Given the description of an element on the screen output the (x, y) to click on. 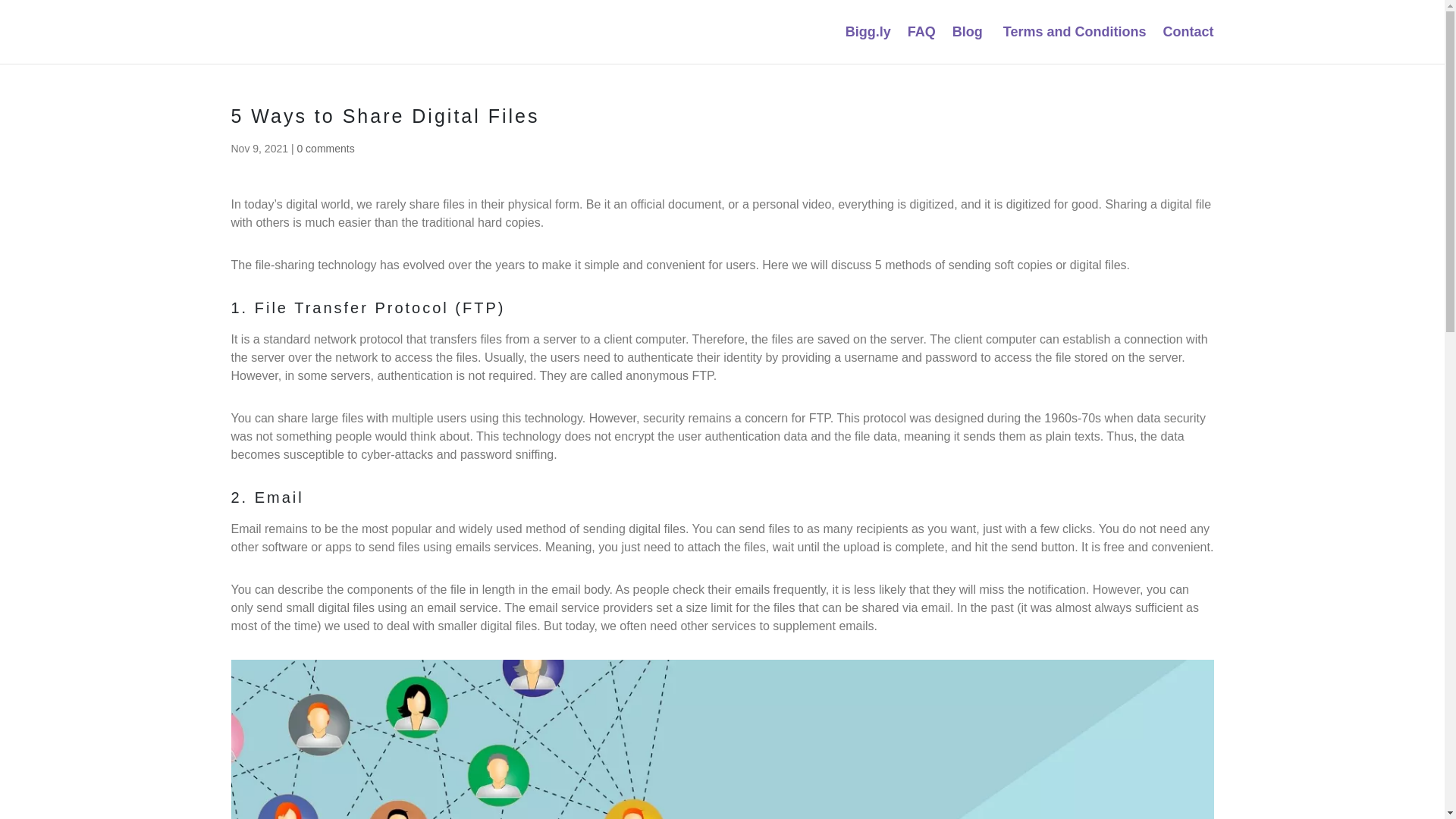
Contact (1188, 44)
 Terms and Conditions (1072, 44)
0 comments (325, 148)
Bigg.ly (868, 44)
